Given the description of an element on the screen output the (x, y) to click on. 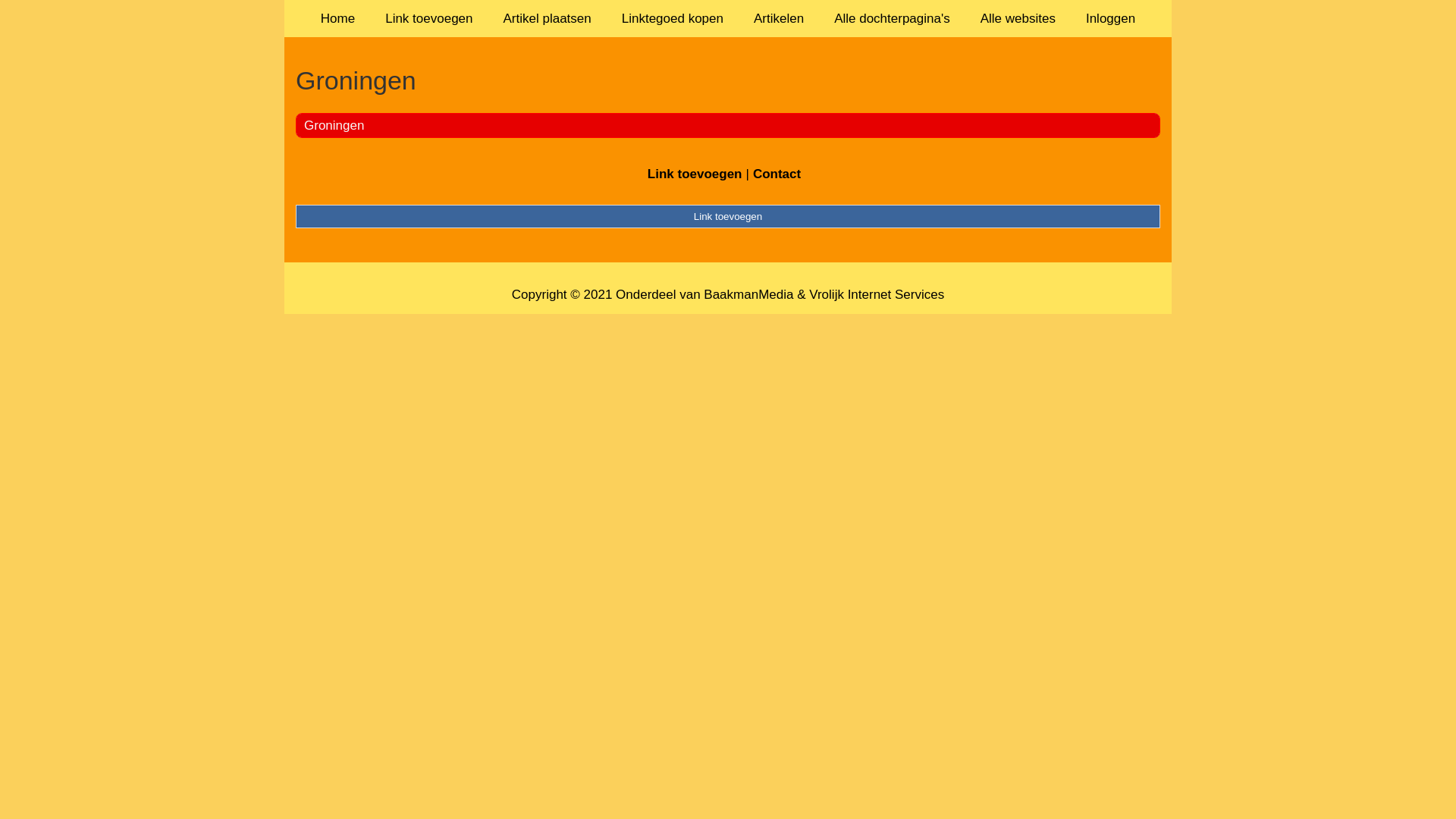
Link toevoegen Element type: text (428, 18)
Linktegoed kopen Element type: text (672, 18)
BaakmanMedia Element type: text (748, 294)
Groningen Element type: text (727, 80)
Alle websites Element type: text (1017, 18)
Inloggen Element type: text (1110, 18)
Groningen Element type: text (334, 125)
Home Element type: text (337, 18)
Link toevoegen Element type: text (727, 215)
Artikel plaatsen Element type: text (547, 18)
Contact Element type: text (776, 173)
Link toevoegen Element type: text (694, 173)
Alle dochterpagina's Element type: text (892, 18)
Vrolijk Internet Services Element type: text (876, 294)
Artikelen Element type: text (778, 18)
